Given the description of an element on the screen output the (x, y) to click on. 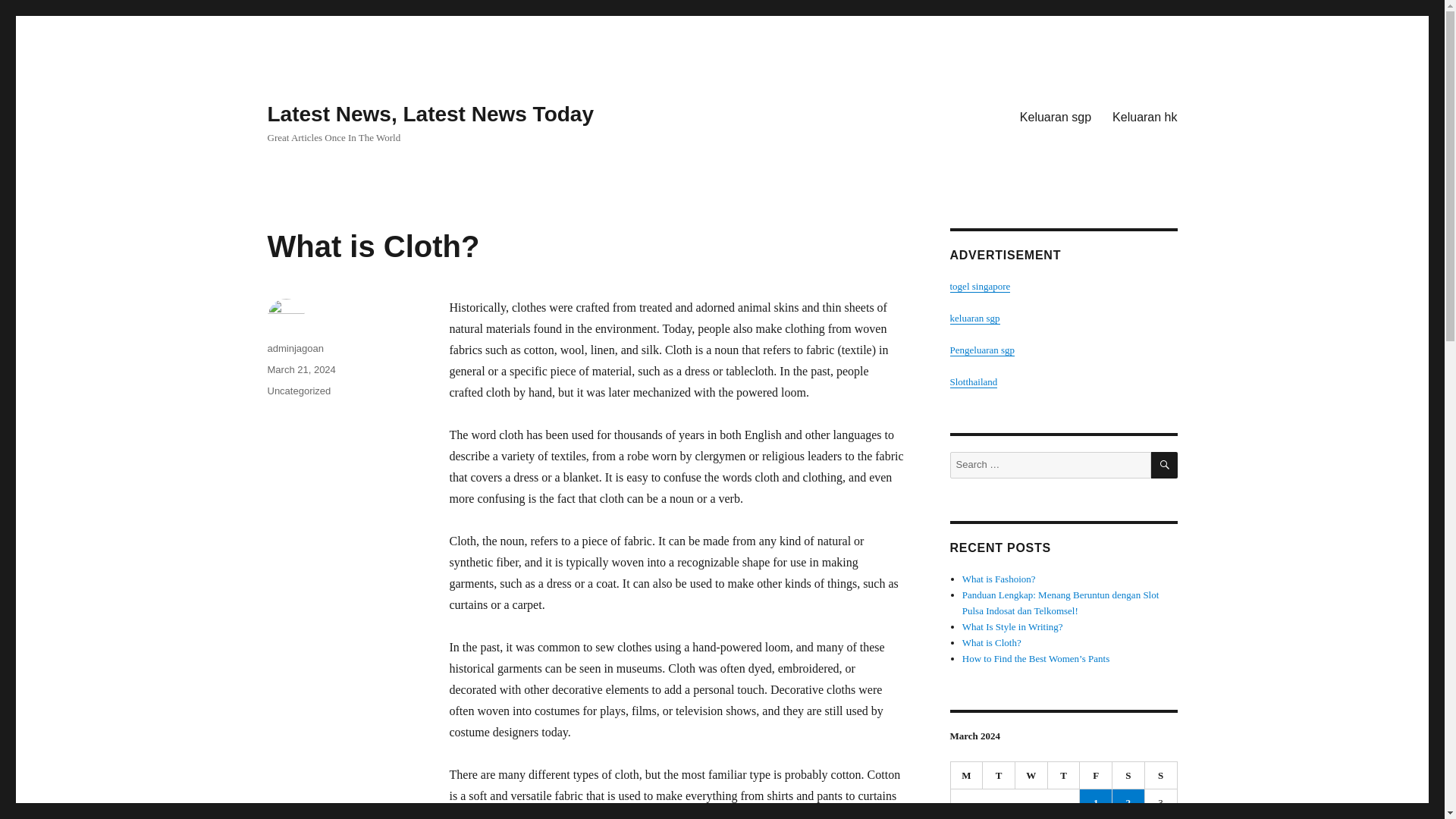
Sunday (1160, 775)
Keluaran hk (1145, 116)
keluaran sgp (973, 317)
6 (1030, 817)
What is Cloth? (992, 642)
Pengeluaran sgp (981, 349)
March 21, 2024 (300, 369)
1 (1096, 802)
10 (1160, 817)
Saturday (1128, 775)
Wednesday (1031, 775)
What Is Style in Writing? (1012, 626)
5 (998, 817)
Slotthailand (973, 381)
